Given the description of an element on the screen output the (x, y) to click on. 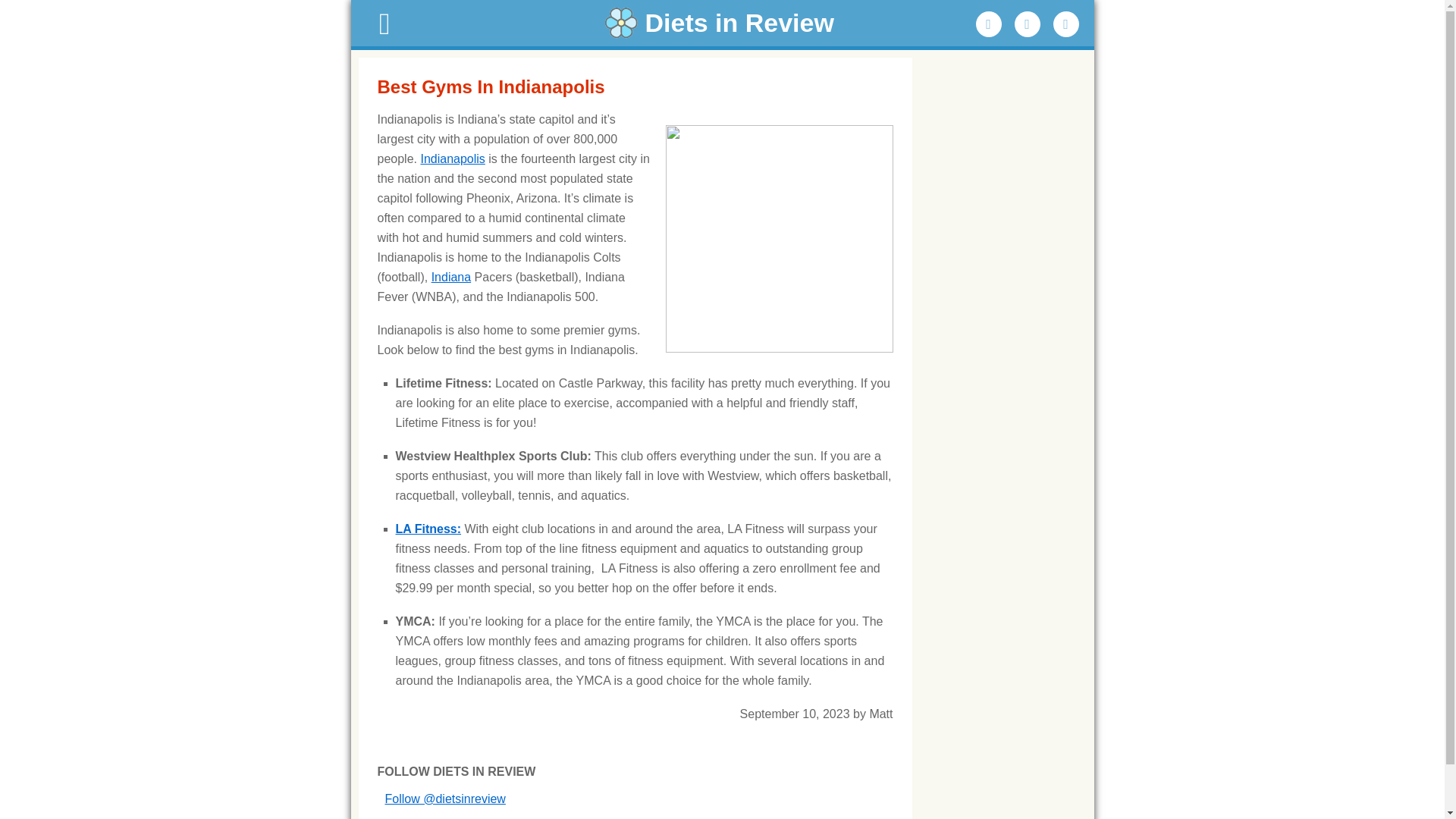
Share with Facebook (988, 23)
indianapolis skyline (779, 238)
Diets in Review Blog (722, 22)
What I Love About the Indy Mini (452, 158)
LA Fitness: (428, 528)
Indianapolis (452, 158)
Indiana (450, 277)
Add to Twitter (1027, 23)
LA Fitness (428, 528)
Diets in Review (722, 22)
